Given the description of an element on the screen output the (x, y) to click on. 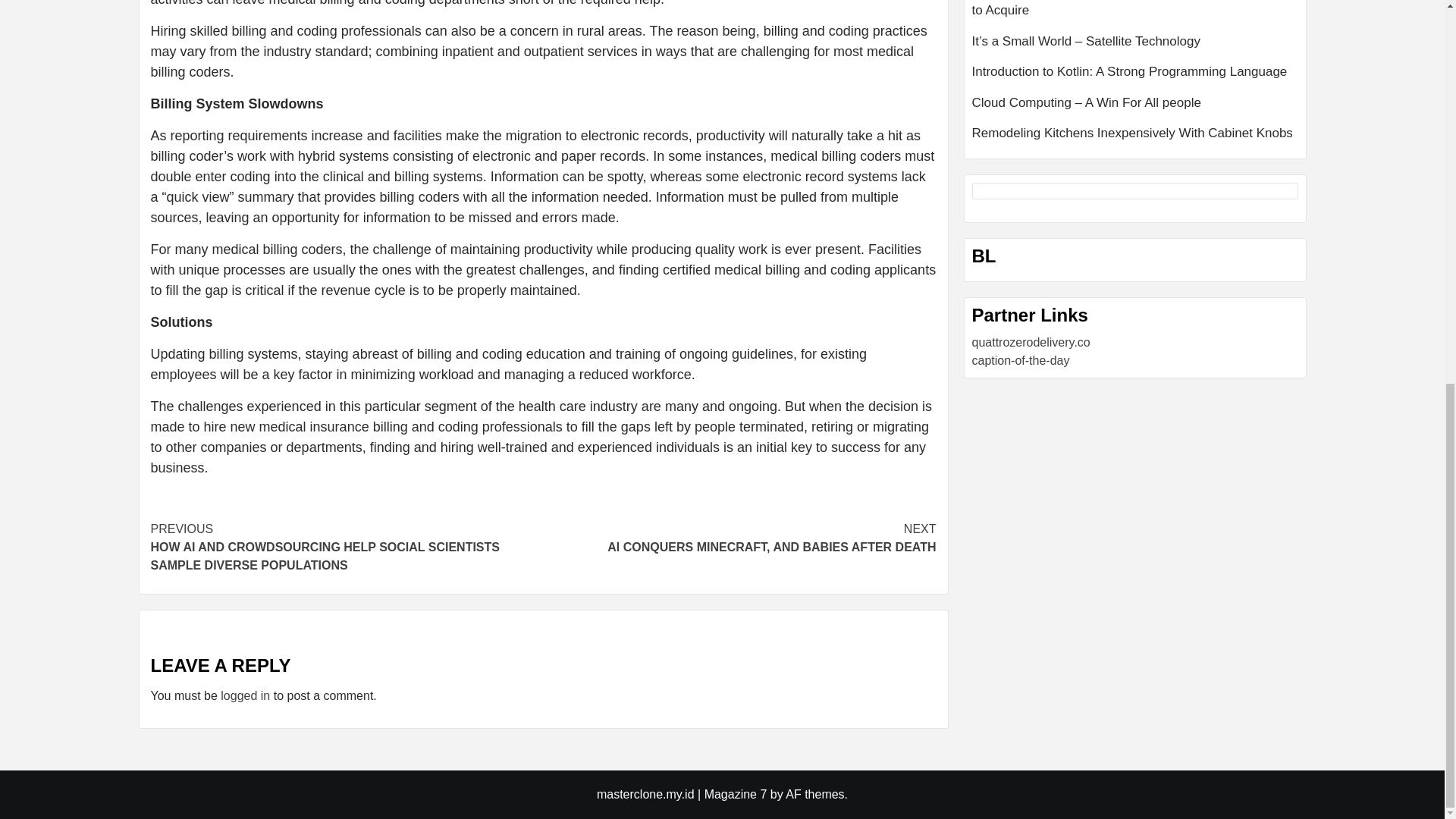
logged in (245, 695)
